Given the description of an element on the screen output the (x, y) to click on. 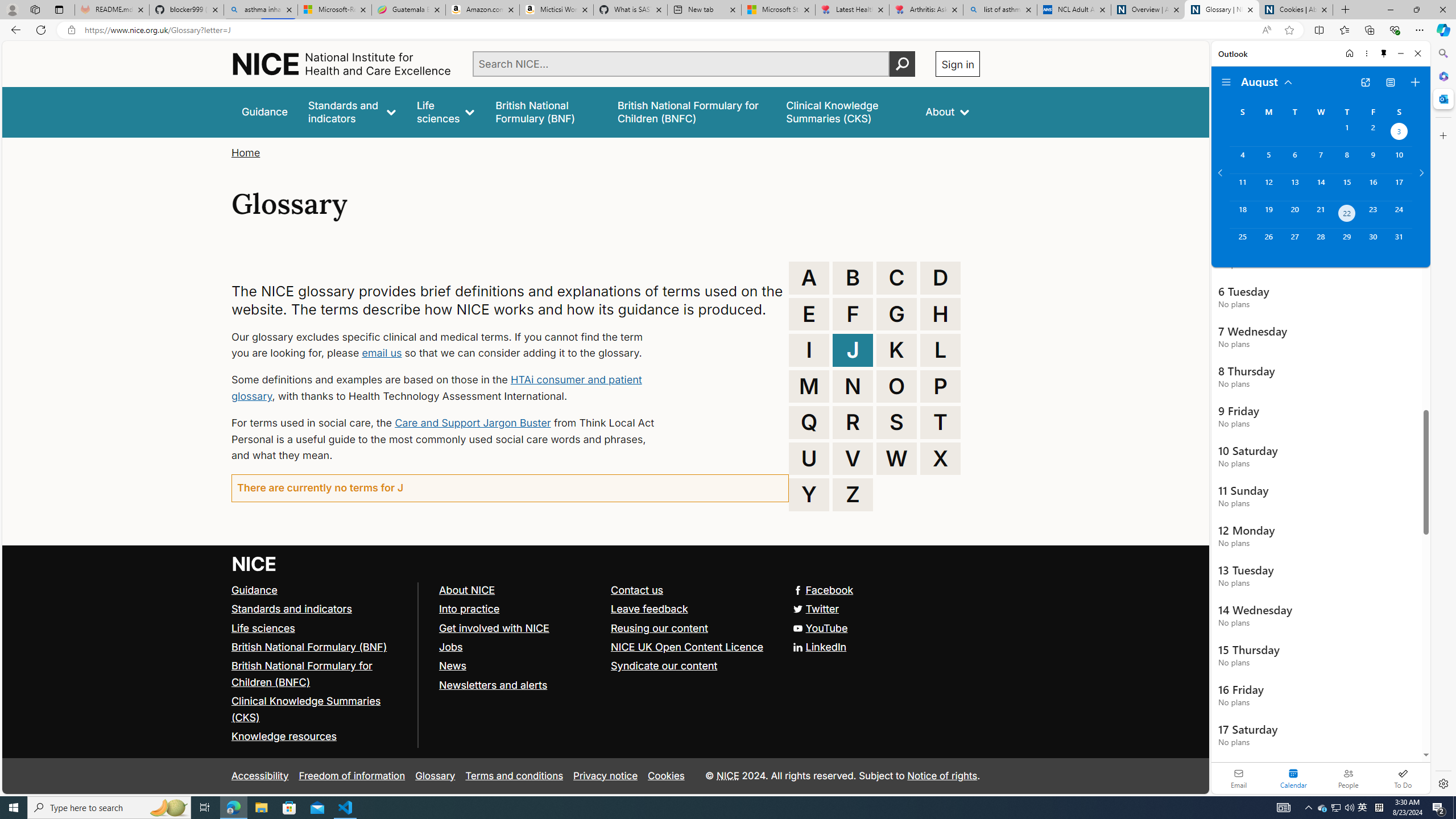
C (896, 277)
F (852, 313)
L (940, 350)
Wednesday, August 14, 2024.  (1320, 186)
View Switcher. Current view is Agenda view (1390, 82)
Life sciences (263, 627)
Sign in (957, 63)
P (940, 385)
Freedom of information (352, 775)
A (809, 277)
